Given the description of an element on the screen output the (x, y) to click on. 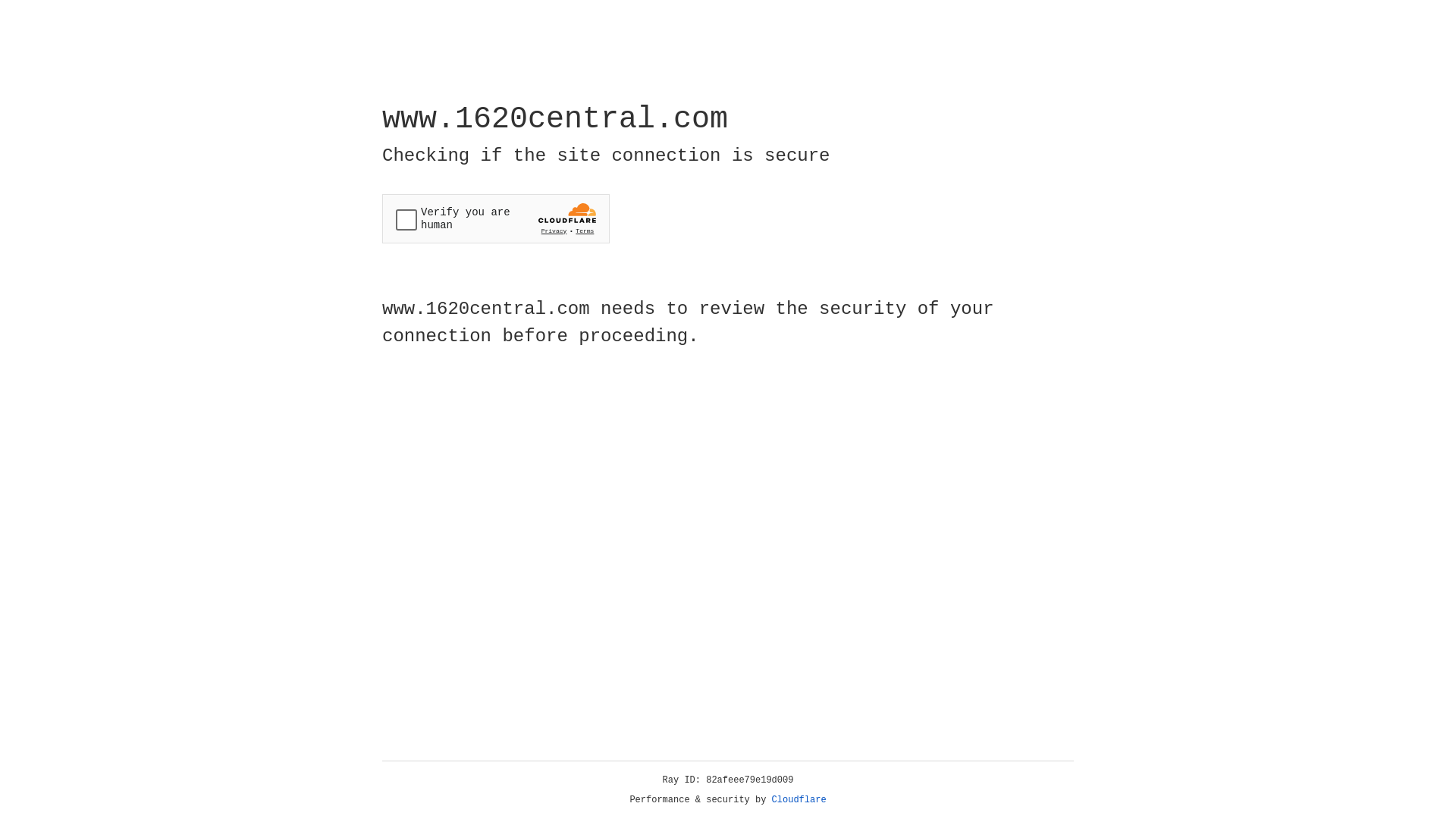
Cloudflare Element type: text (798, 799)
Widget containing a Cloudflare security challenge Element type: hover (495, 218)
